Given the description of an element on the screen output the (x, y) to click on. 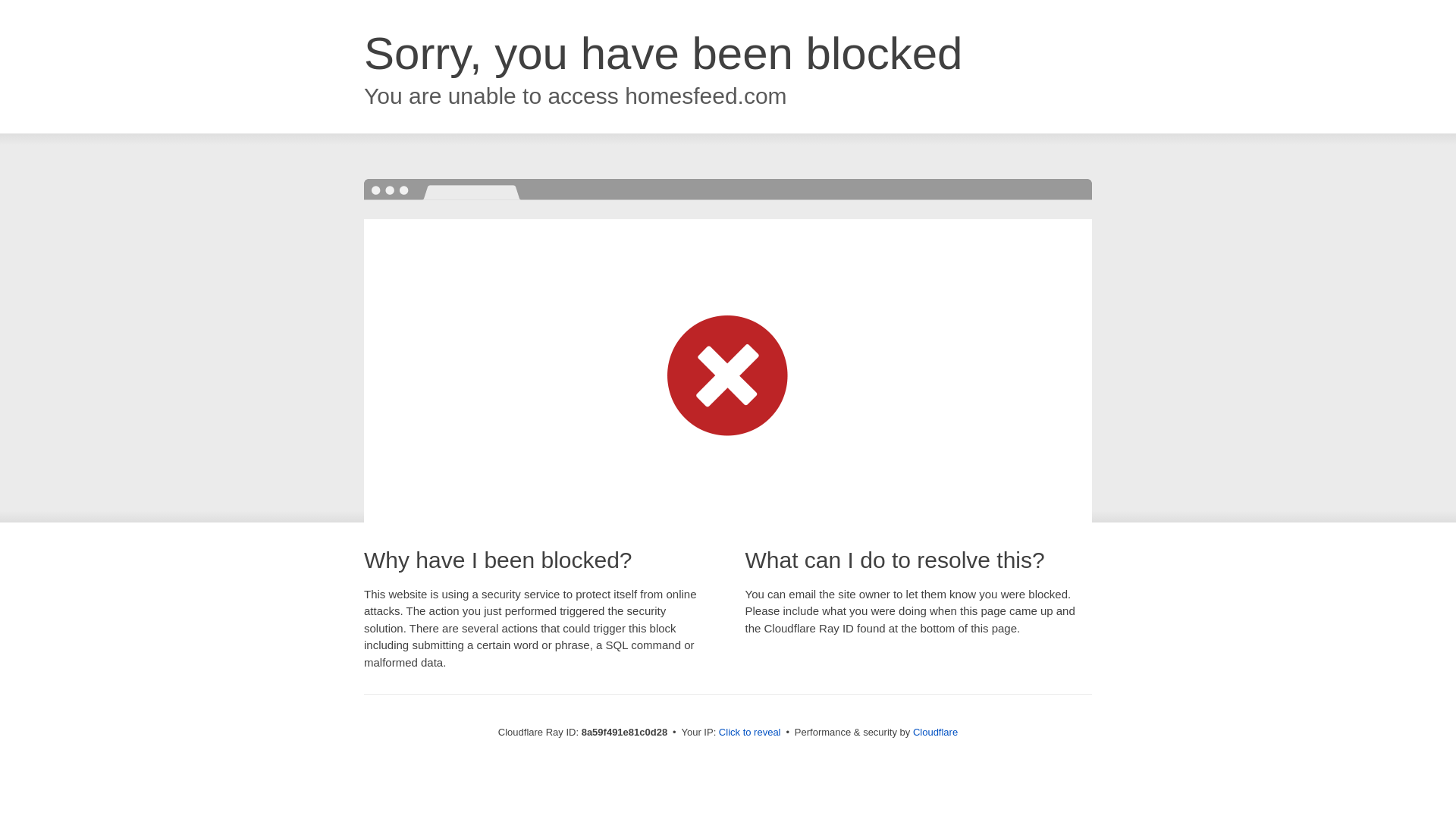
Cloudflare (935, 731)
Click to reveal (749, 732)
